Given the description of an element on the screen output the (x, y) to click on. 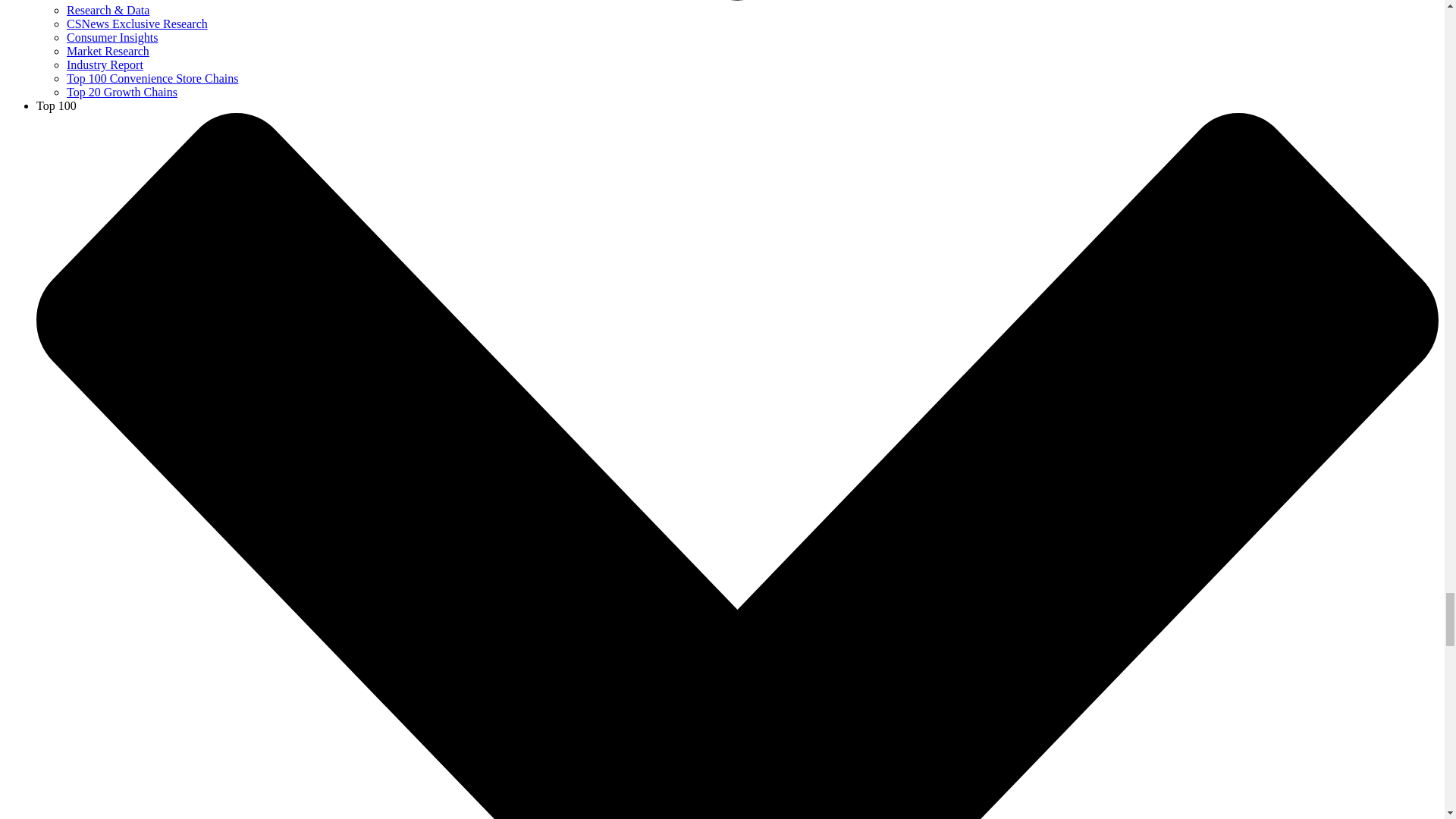
CSNews Exclusive Research (137, 23)
Market Research (107, 51)
Industry Report (104, 64)
Top 20 Growth Chains (121, 91)
Consumer Insights (111, 37)
Top 100 Convenience Store Chains (152, 78)
Top 100 (56, 105)
